Given the description of an element on the screen output the (x, y) to click on. 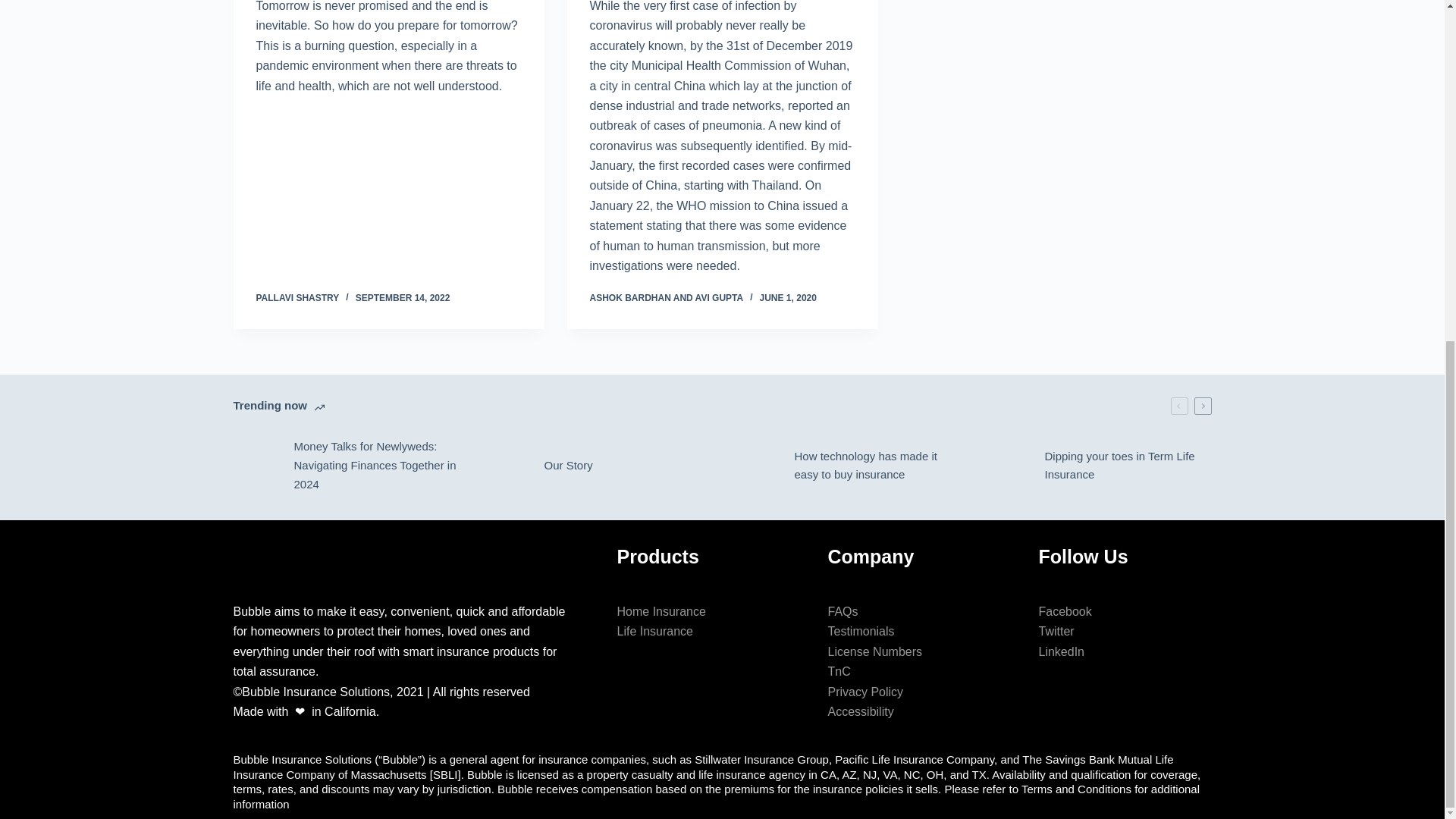
Posts by Pallavi Shastry (297, 297)
PALLAVI SHASTRY (297, 297)
Posts by Ashok Bardhan and Avi Gupta (666, 297)
